Given the description of an element on the screen output the (x, y) to click on. 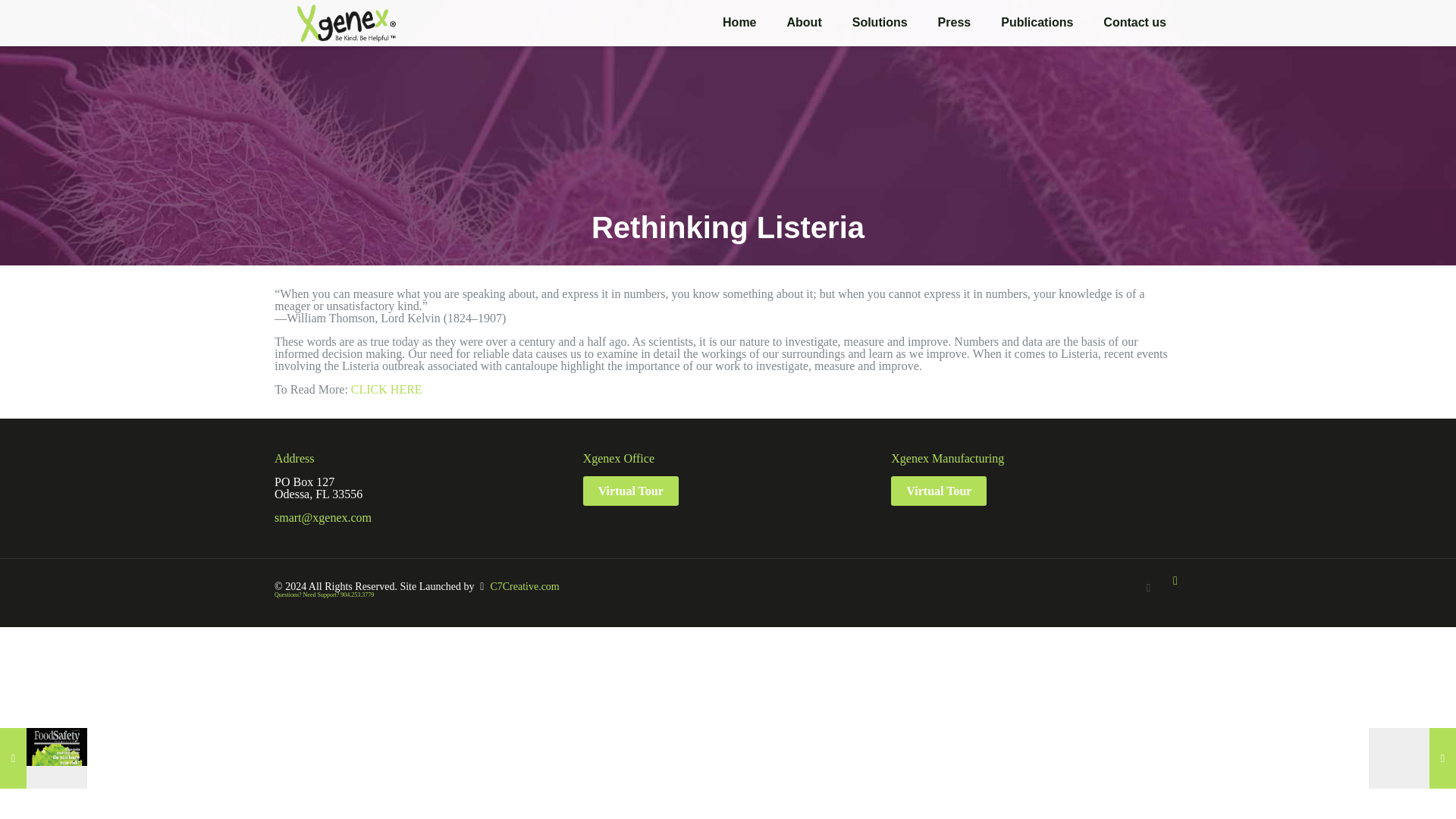
Xgenex (346, 22)
LinkedIn (1148, 587)
Home (739, 22)
About (804, 22)
CLICK HERE (386, 389)
Contact us (1133, 22)
Press (955, 22)
Solutions (880, 22)
Publications (1036, 22)
